Given the description of an element on the screen output the (x, y) to click on. 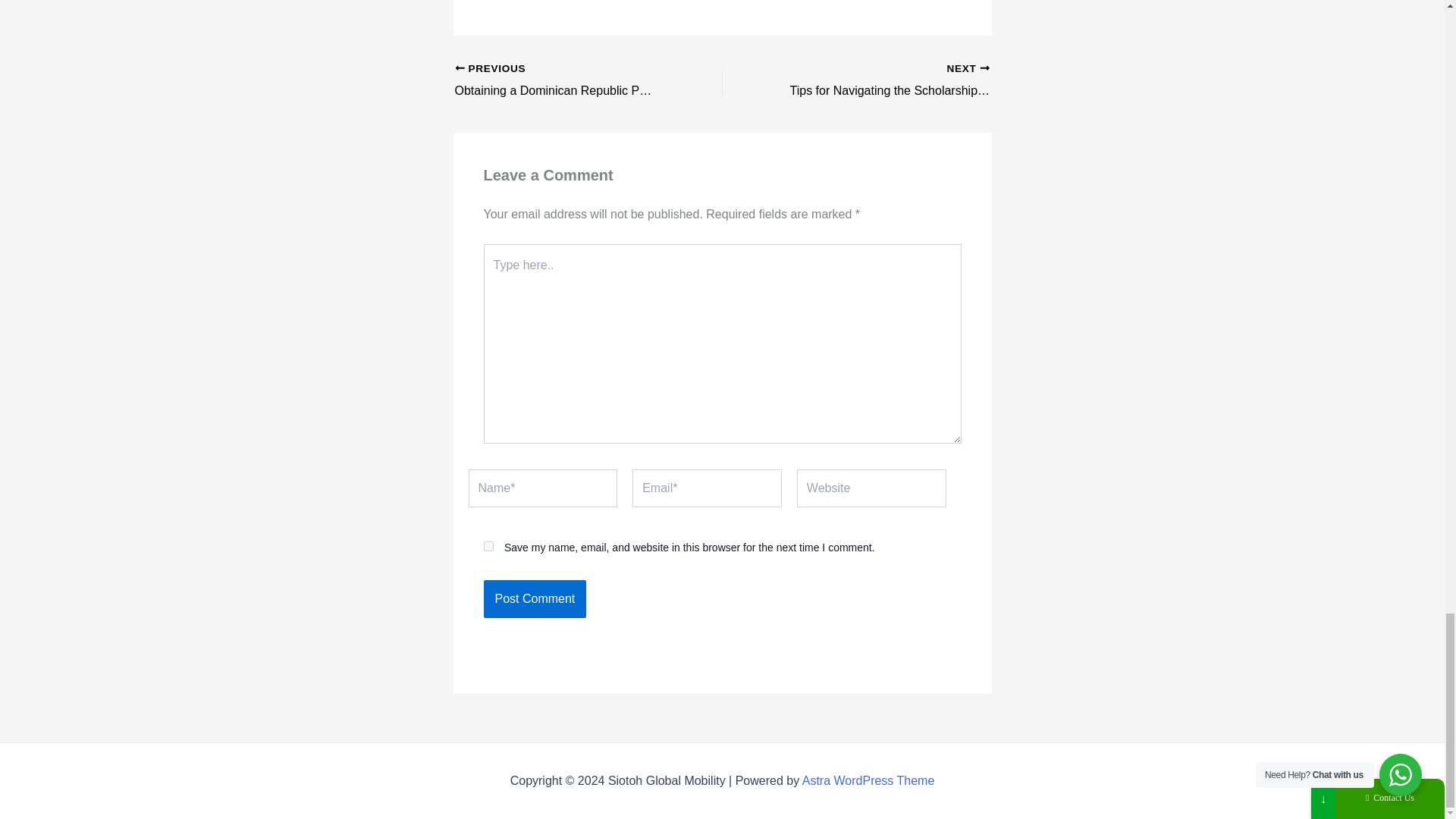
Post Comment (534, 598)
yes (488, 546)
